Given the description of an element on the screen output the (x, y) to click on. 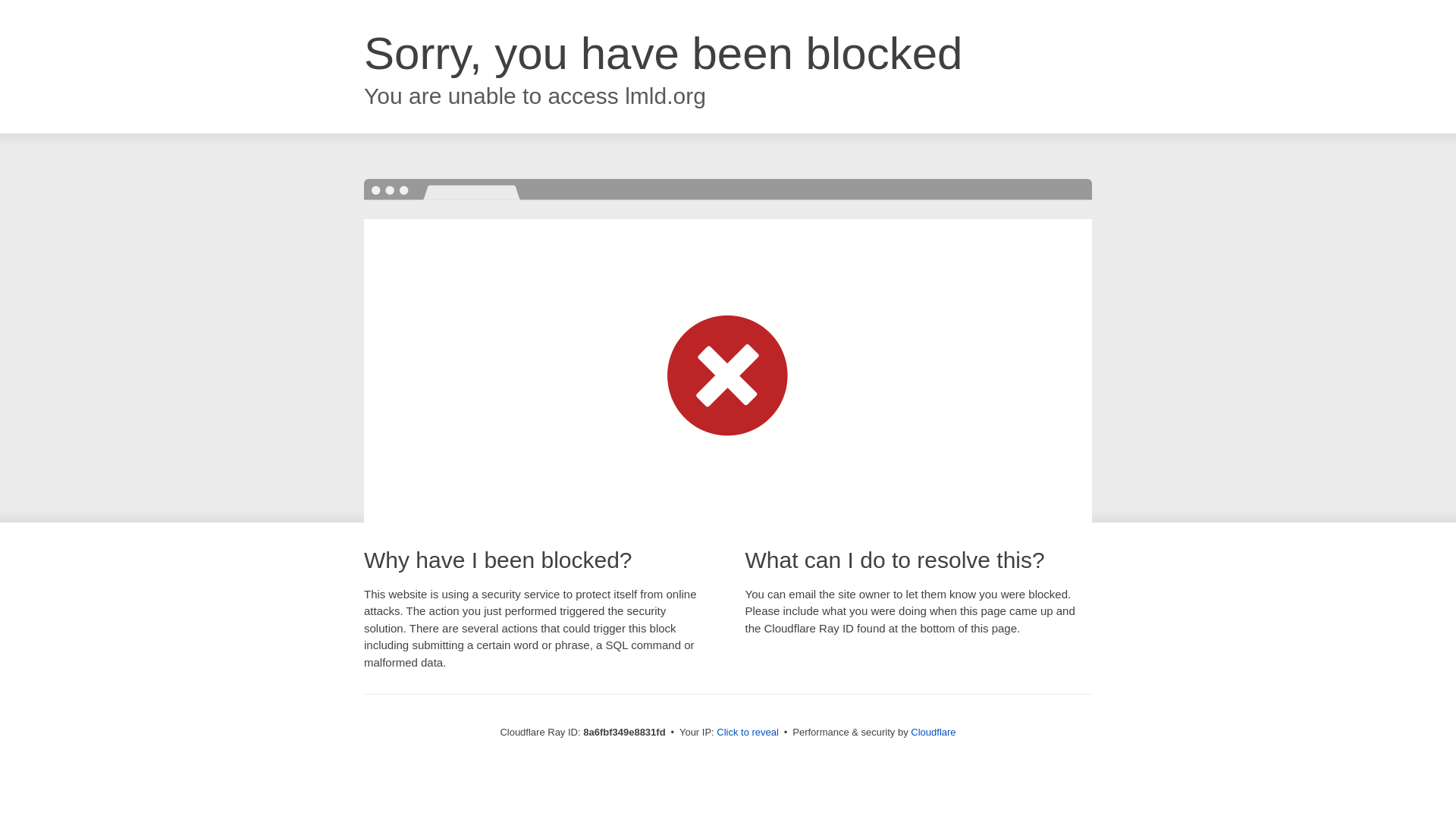
Cloudflare (933, 731)
Click to reveal (747, 732)
